Given the description of an element on the screen output the (x, y) to click on. 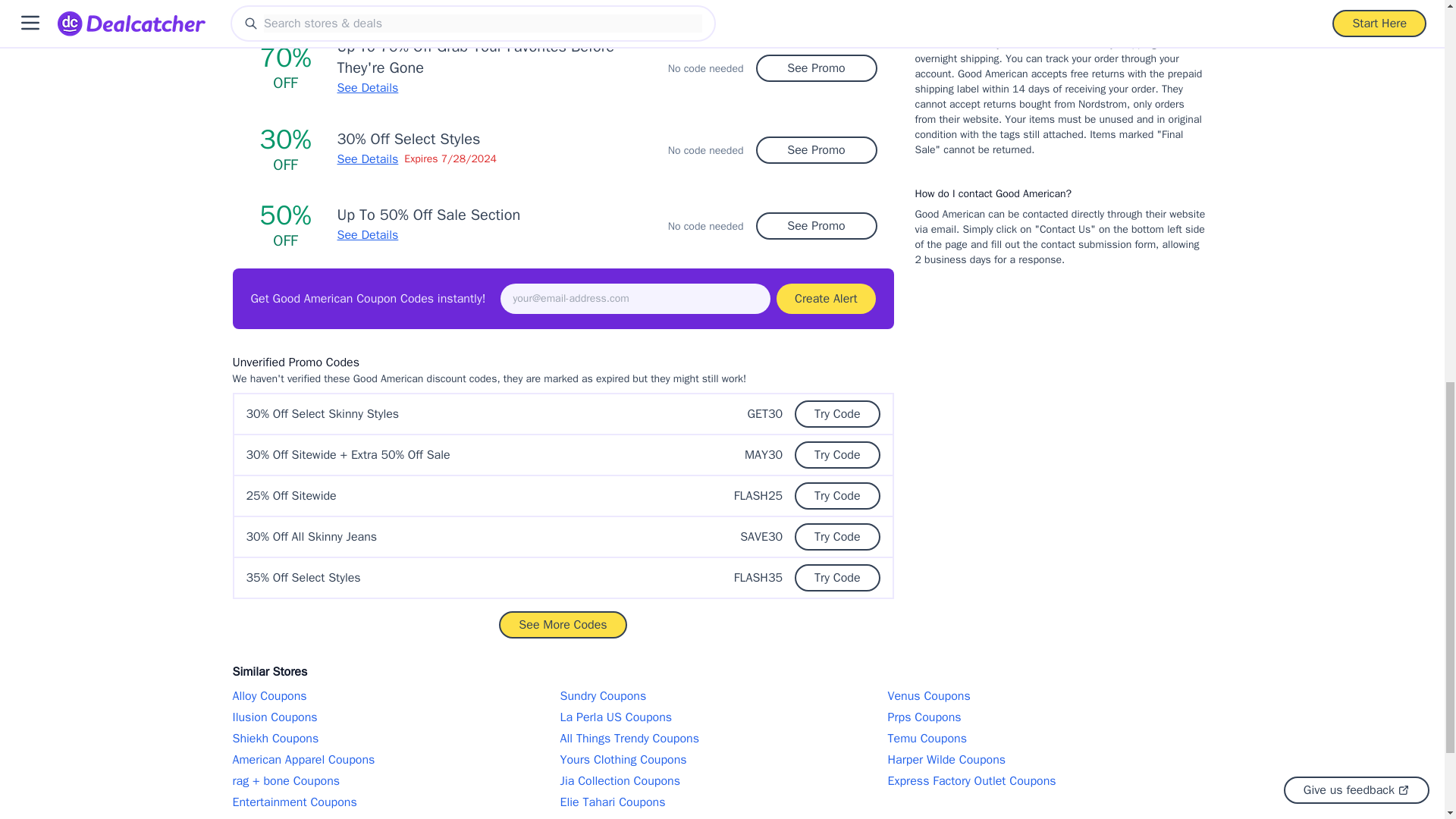
Temu Coupons (1048, 738)
Create Alert (825, 298)
La Perla US Coupons (721, 717)
All Things Trendy Coupons (721, 738)
Sundry Coupons (721, 696)
Alloy Coupons (393, 696)
American Apparel Coupons (393, 760)
Shiekh Coupons (393, 738)
Ilusion Coupons (393, 717)
Venus Coupons (1048, 696)
Prps Coupons (1048, 717)
See More Codes (562, 624)
